Given the description of an element on the screen output the (x, y) to click on. 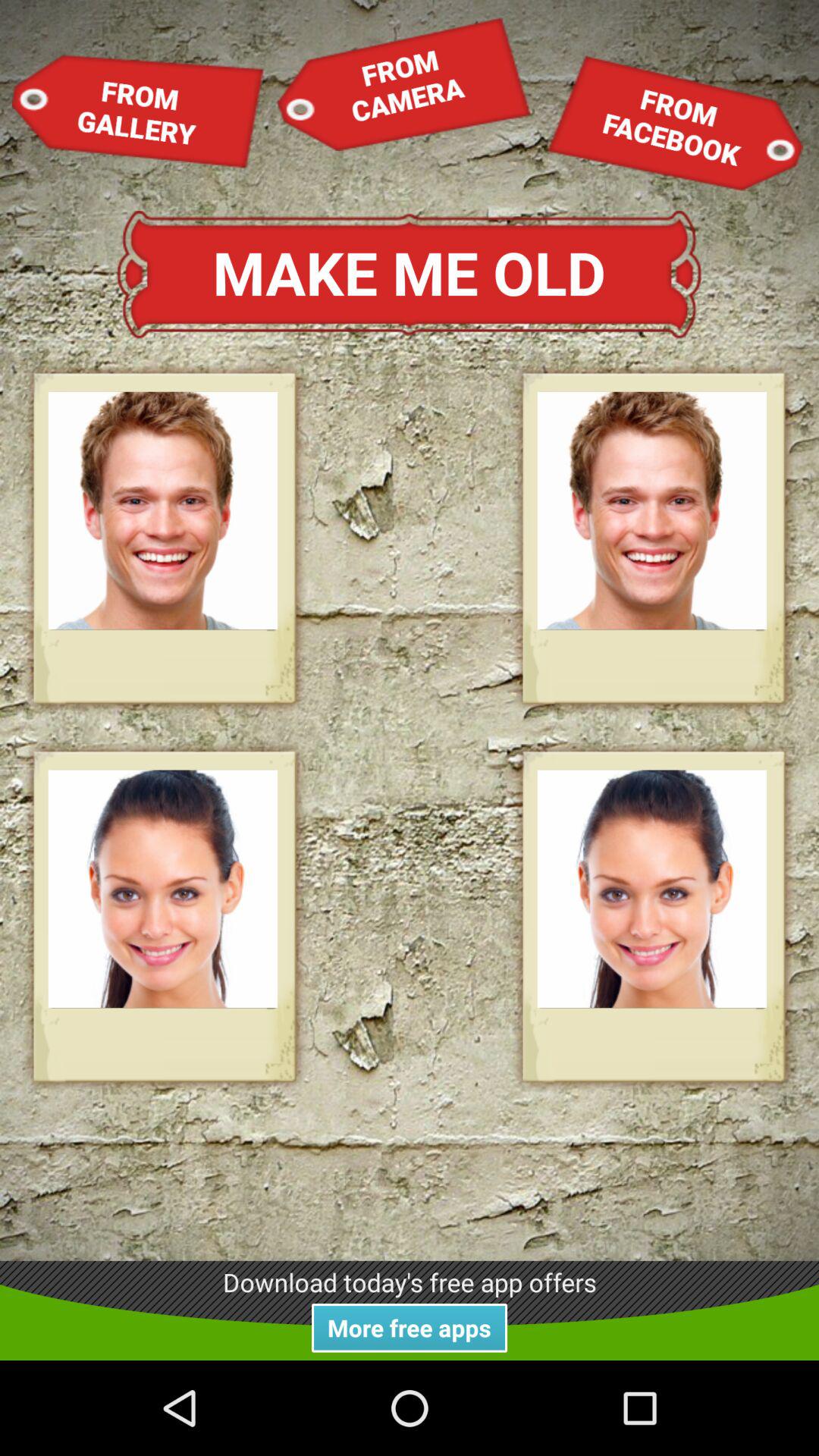
flip to more free apps item (409, 1327)
